Given the description of an element on the screen output the (x, y) to click on. 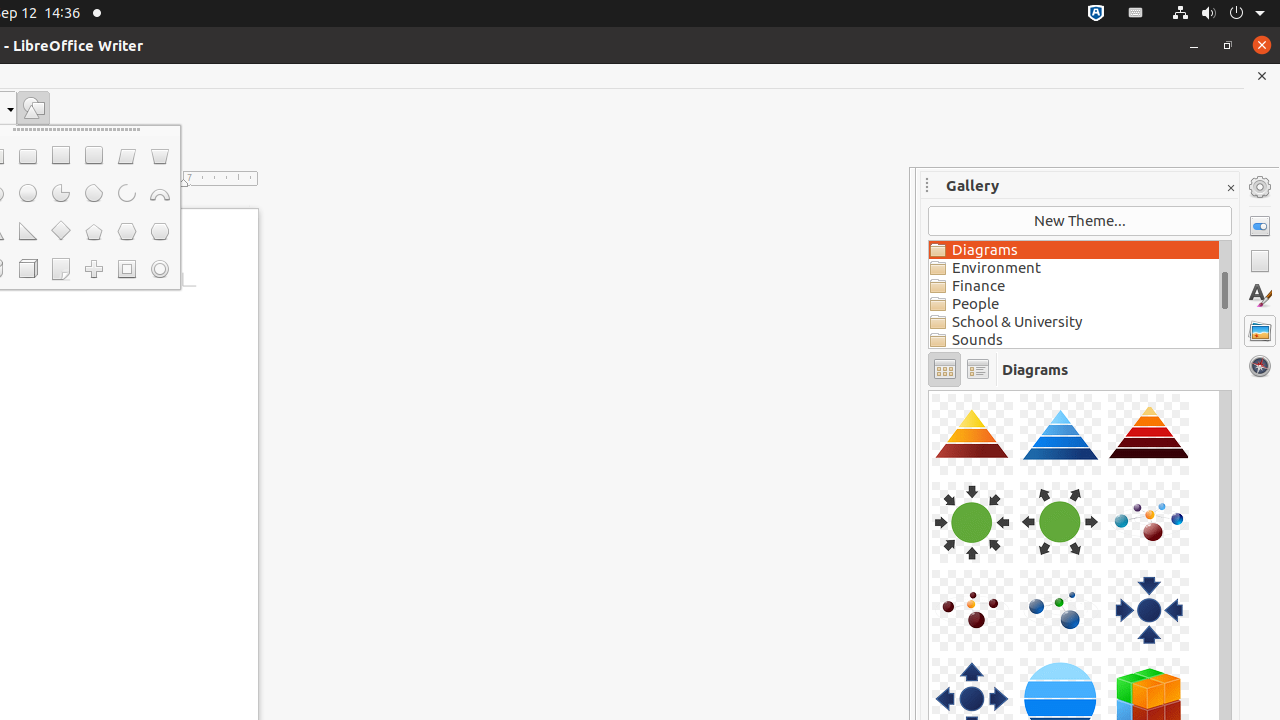
Close Sidebar Deck Element type: push-button (1230, 188)
Component-Cube02-LightBlue Element type: list-item (929, 390)
Draw Functions Element type: toggle-button (33, 108)
Component-Person02-Blue Element type: list-item (929, 390)
Properties Element type: radio-button (1260, 226)
